Given the description of an element on the screen output the (x, y) to click on. 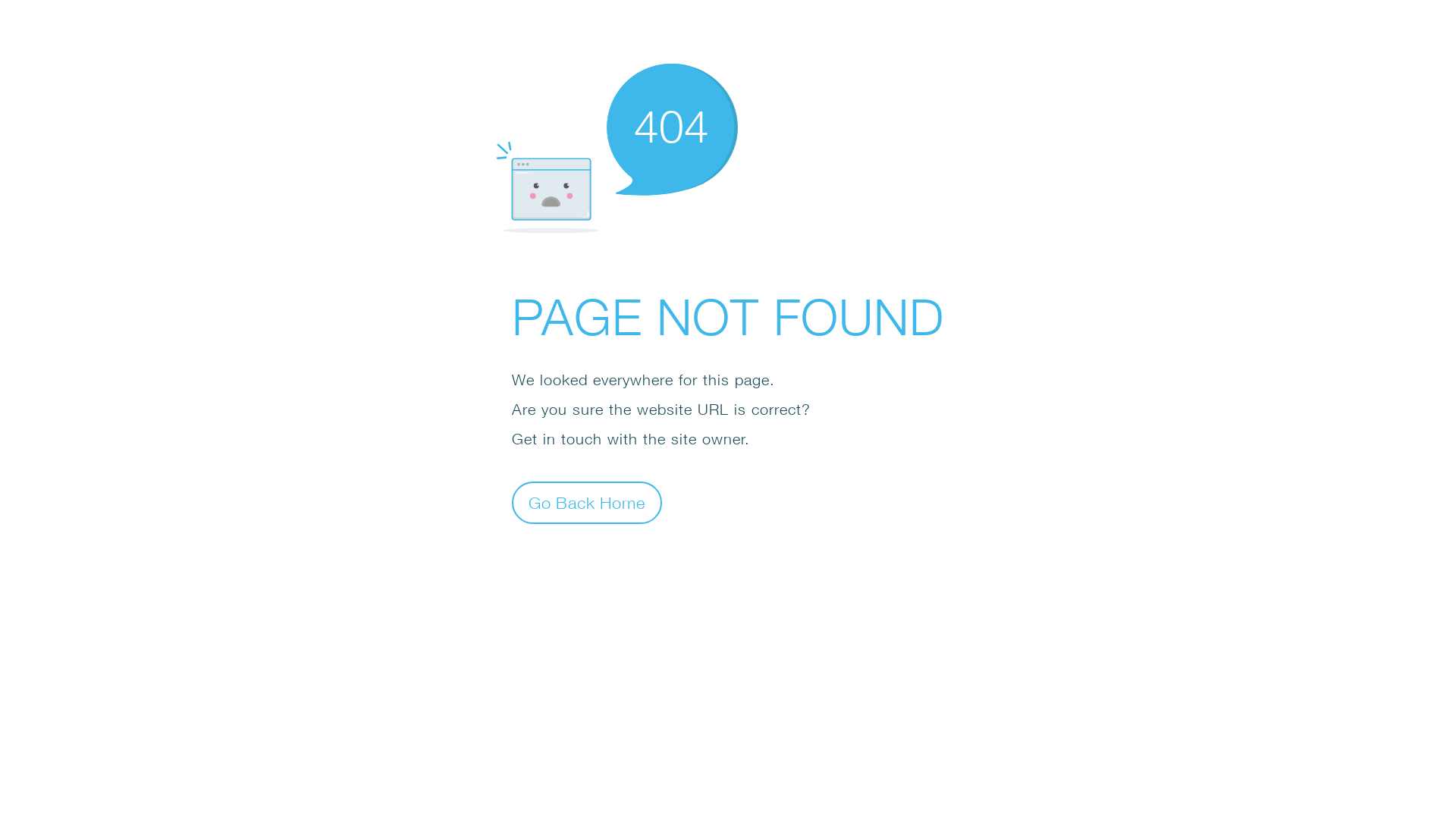
Go Back Home Element type: text (586, 502)
